Given the description of an element on the screen output the (x, y) to click on. 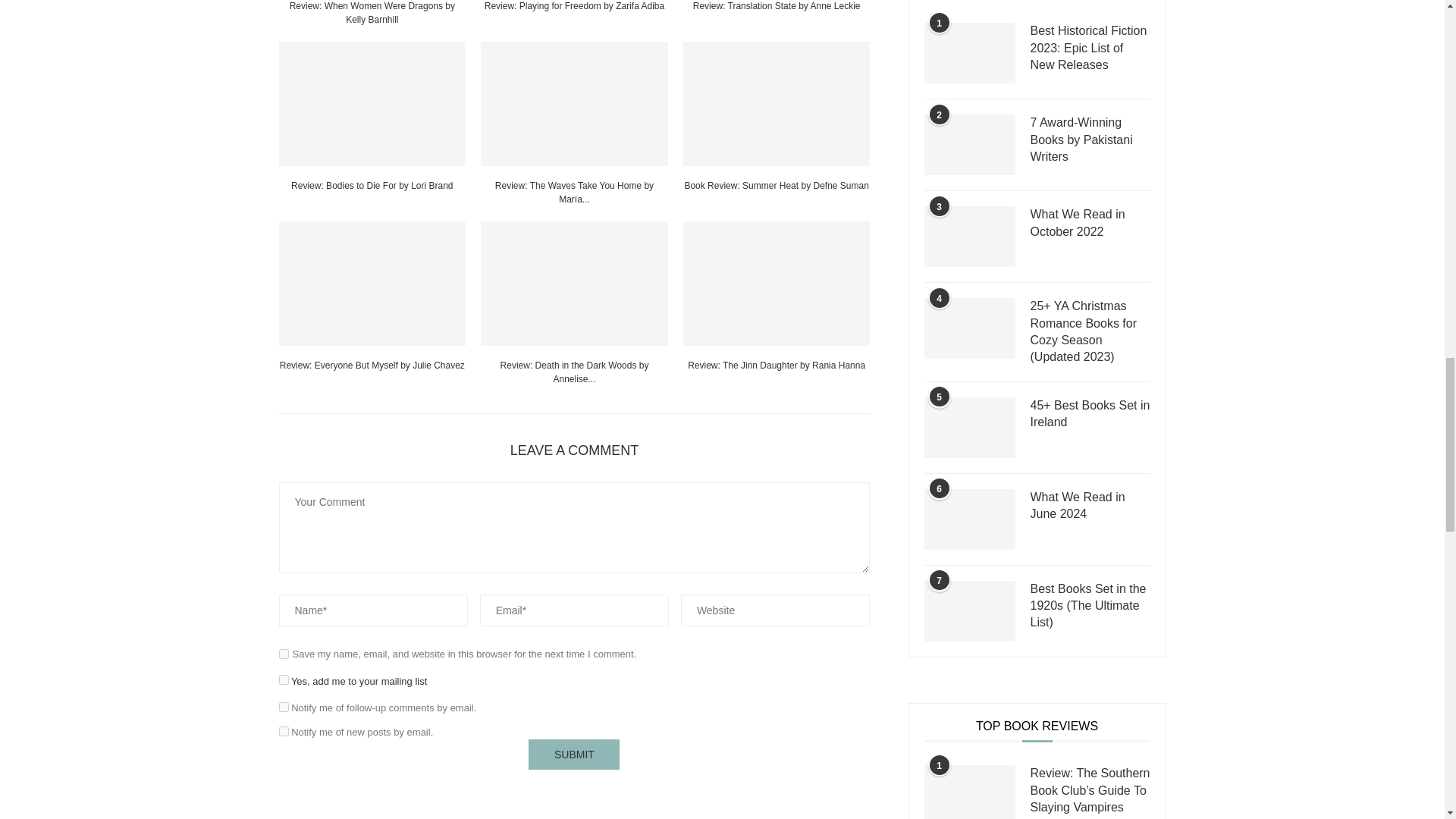
Review: Death in the Dark Woods by Annelise Ryan (574, 283)
subscribe (283, 731)
Review: Bodies to Die For by Lori Brand (372, 103)
Book Review: Summer Heat by Defne Suman (776, 103)
Submit (574, 754)
subscribe (283, 706)
1 (283, 679)
Review: Everyone But Myself by Julie Chavez (372, 283)
yes (283, 654)
Review: The Jinn Daughter by Rania Hanna (776, 283)
